Given the description of an element on the screen output the (x, y) to click on. 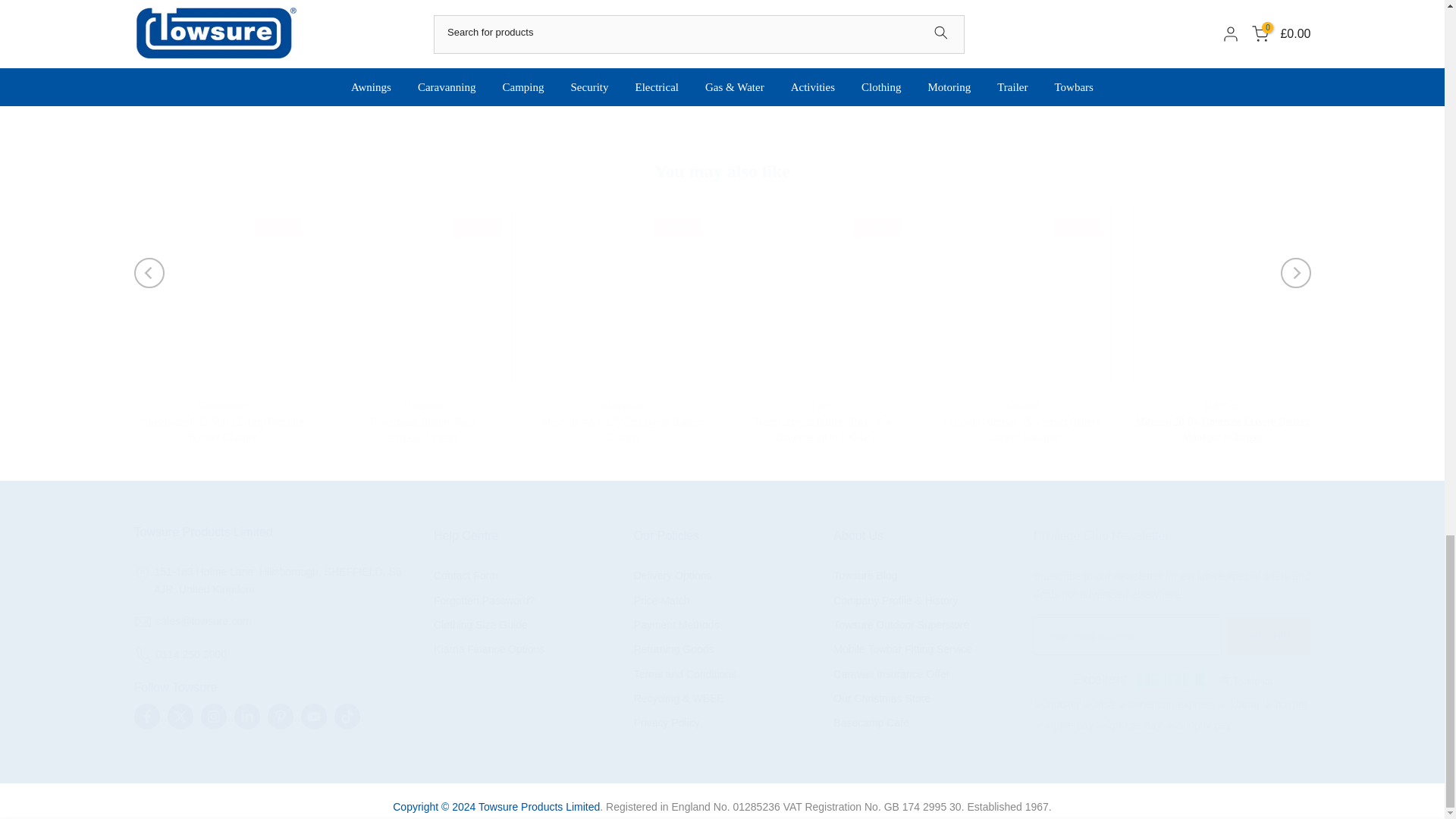
Follow on Linkedin (245, 716)
Follow on Twitter (179, 716)
Follow on Facebook (145, 716)
Follow on Instagram (212, 716)
